Given the description of an element on the screen output the (x, y) to click on. 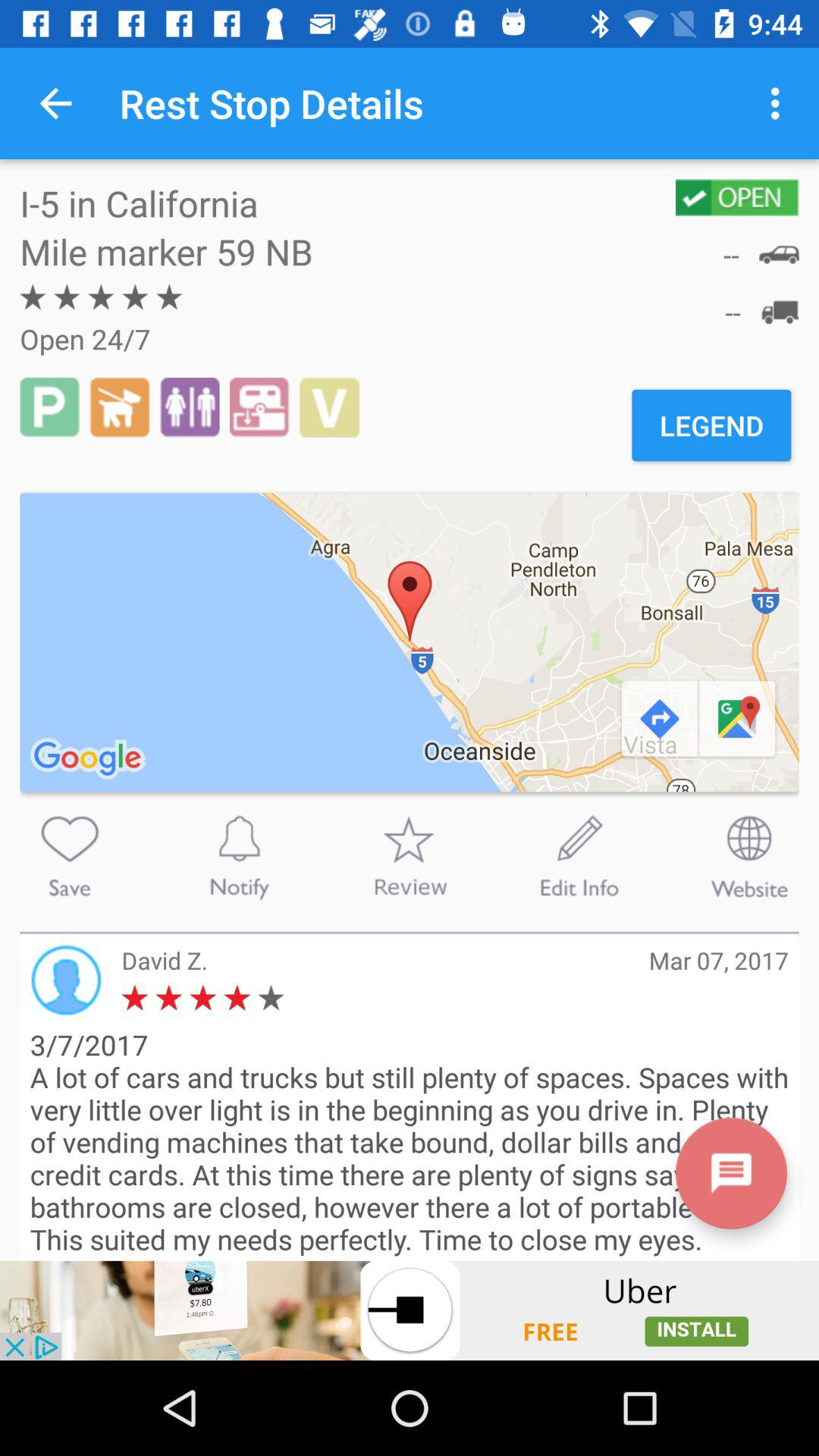
open the notifications (238, 856)
